Given the description of an element on the screen output the (x, y) to click on. 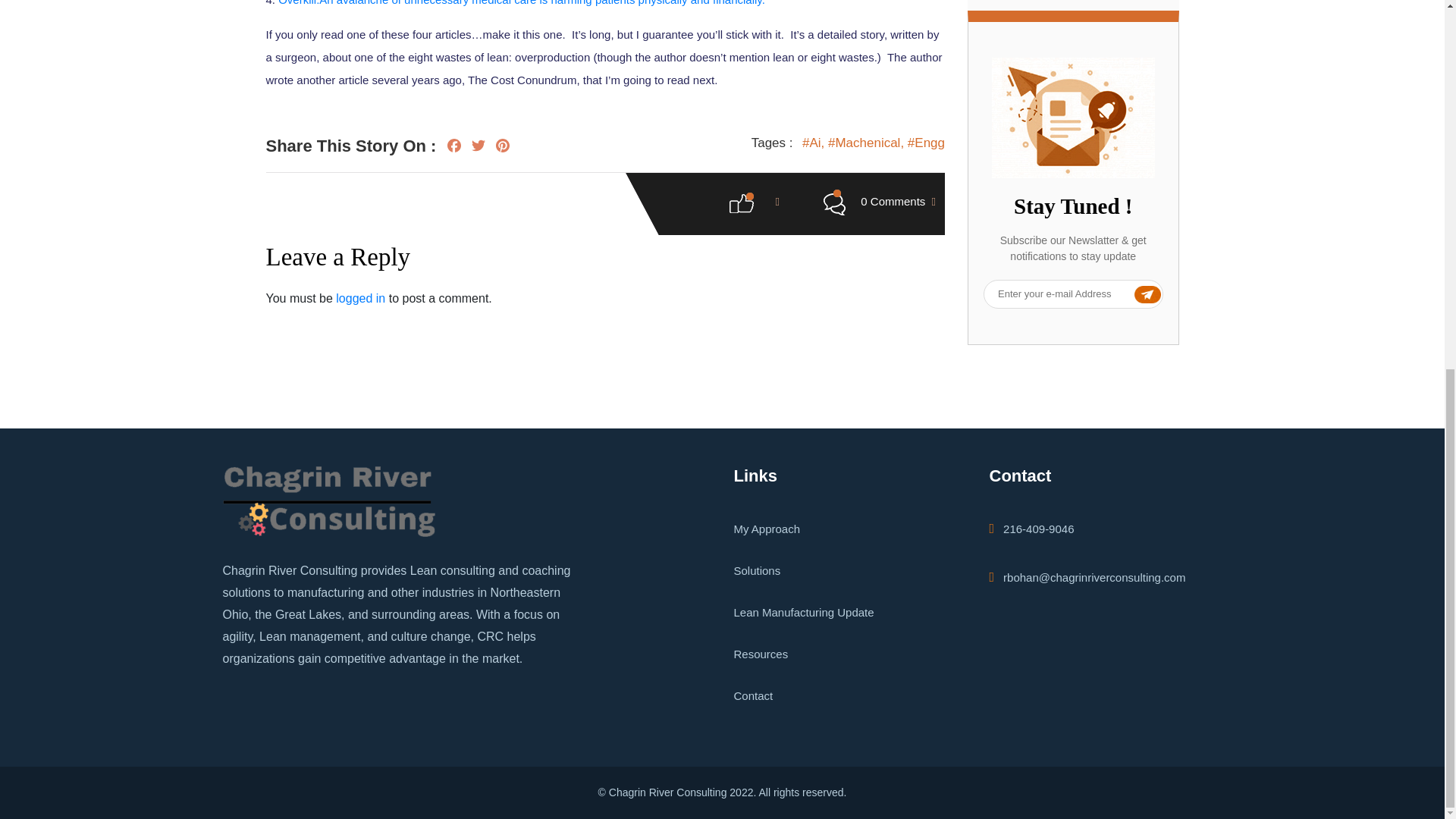
Resources (761, 653)
Pinterest (502, 147)
Facebook (453, 147)
Lean Manufacturing Update (804, 612)
Facebook (453, 147)
216-409-9046 (1031, 528)
Twitter (477, 147)
Subscribe (1128, 291)
Twitter (477, 147)
Pinterest (502, 147)
Solutions (756, 570)
My Approach (766, 528)
logged in (360, 297)
Contact (753, 695)
